Given the description of an element on the screen output the (x, y) to click on. 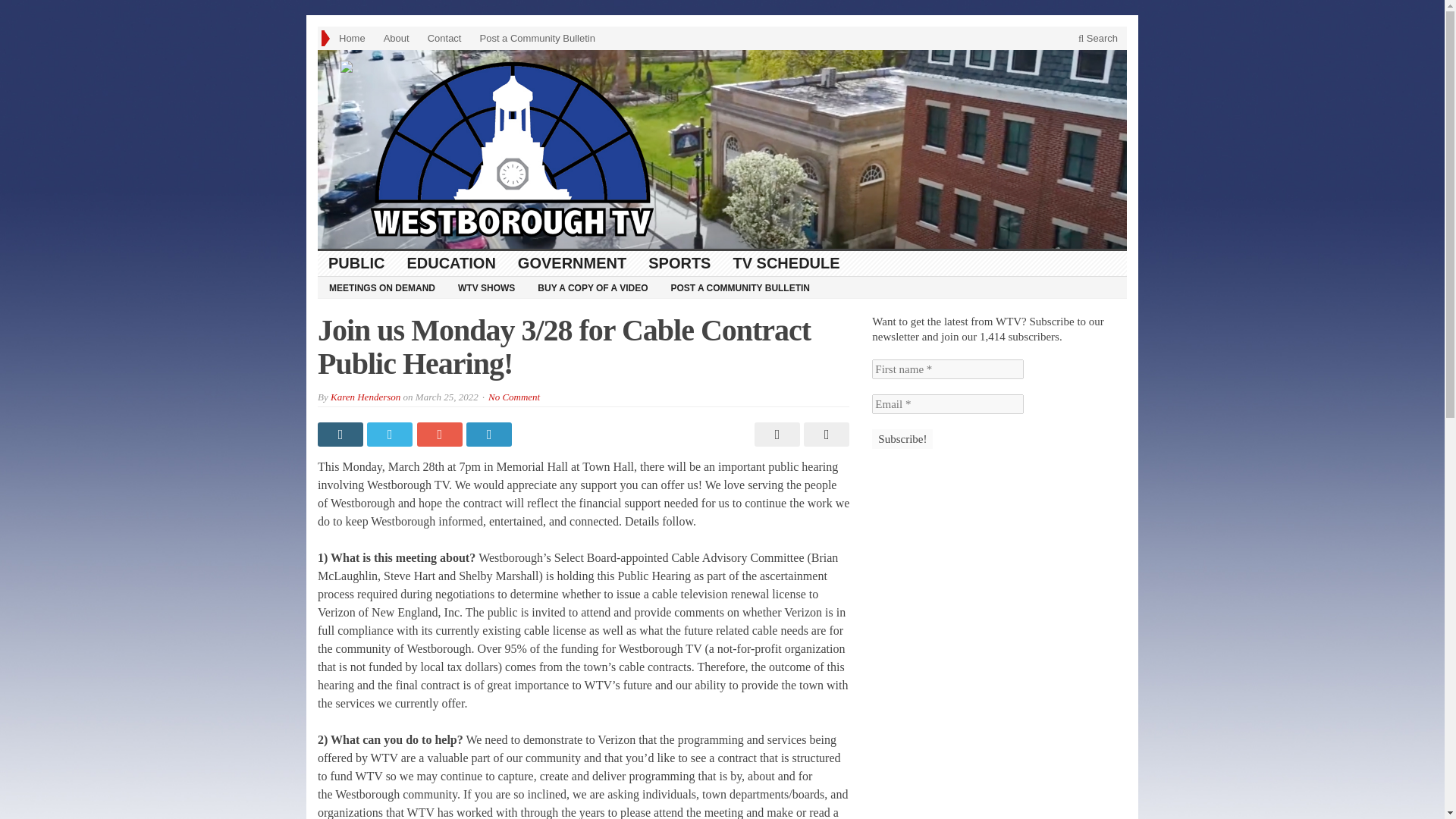
Email (947, 403)
Search (1097, 37)
EDUCATION (451, 263)
PUBLIC (356, 263)
Contact (444, 37)
GOVERNMENT (571, 263)
Home (352, 37)
SPORTS (679, 263)
TV SCHEDULE (786, 263)
Subscribe! (902, 438)
Post a Community Bulletin (537, 37)
First name (947, 369)
About (396, 37)
